Given the description of an element on the screen output the (x, y) to click on. 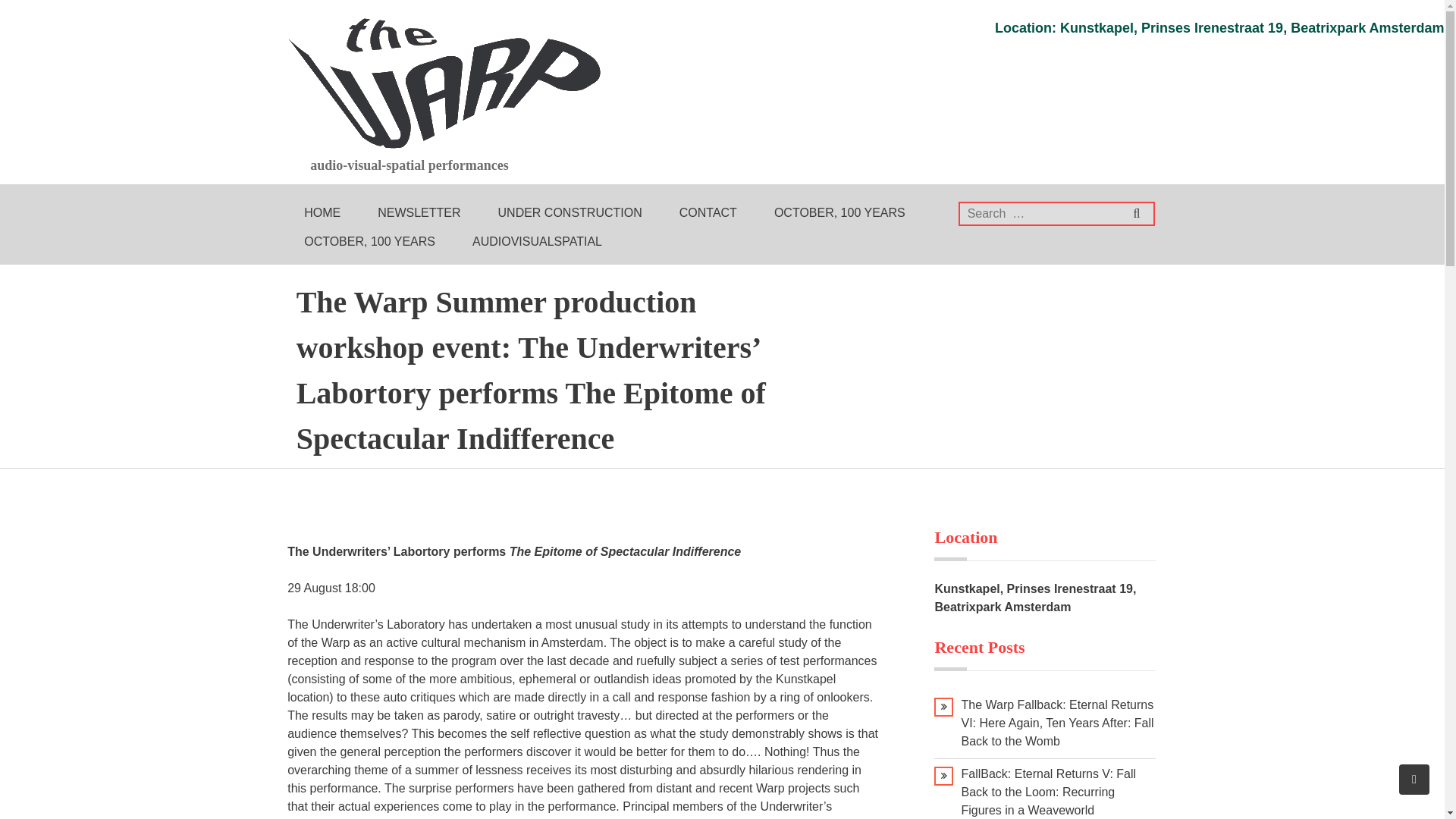
OCTOBER, 100 YEARS (839, 213)
HOME (321, 213)
OCTOBER, 100 YEARS (368, 241)
UNDER CONSTRUCTION (570, 213)
Subscribe (1397, 12)
CONTACT (708, 213)
NEWSLETTER (419, 213)
AUDIOVISUALSPATIAL (536, 241)
